Given the description of an element on the screen output the (x, y) to click on. 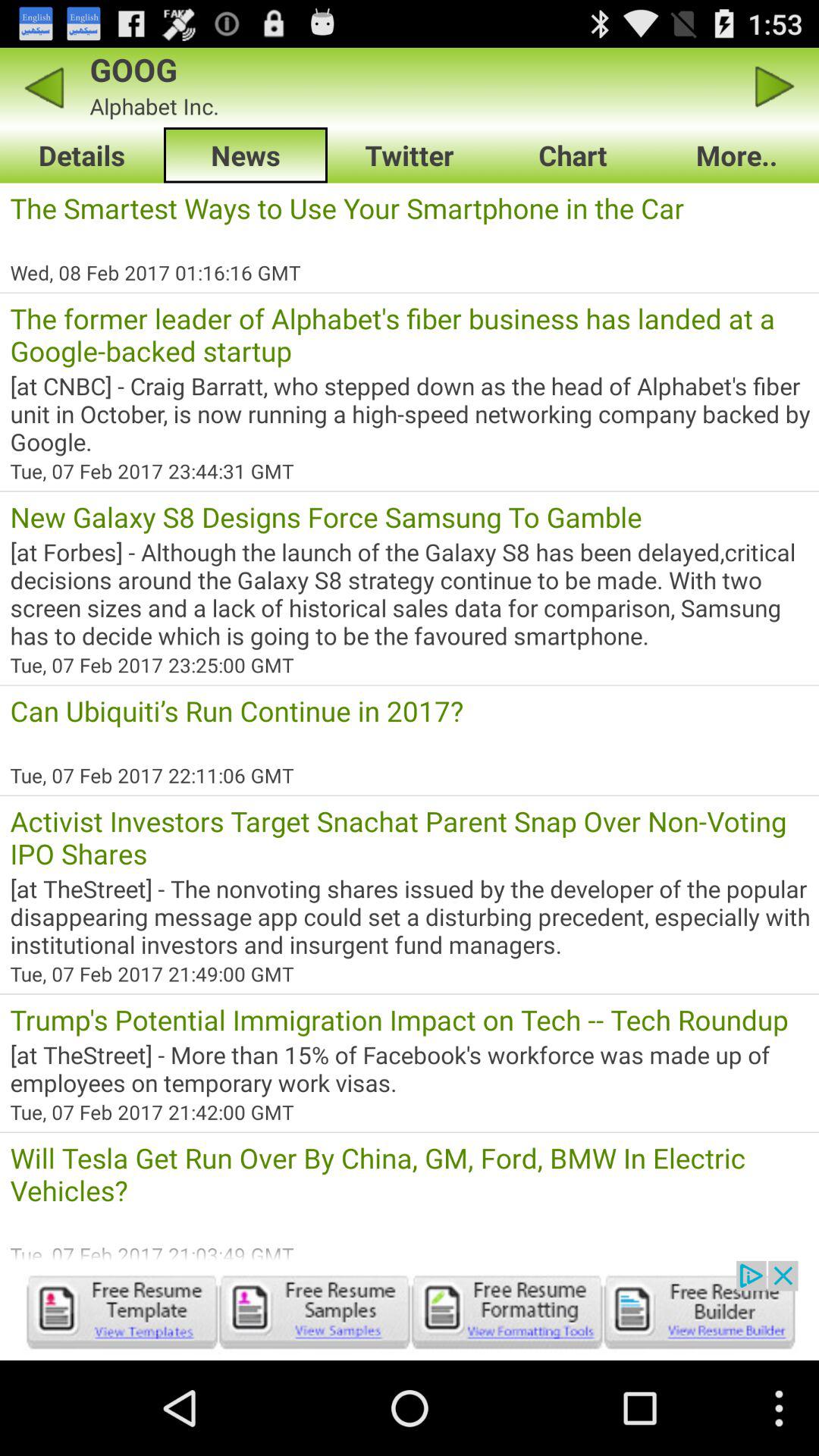
go back (43, 87)
